Given the description of an element on the screen output the (x, y) to click on. 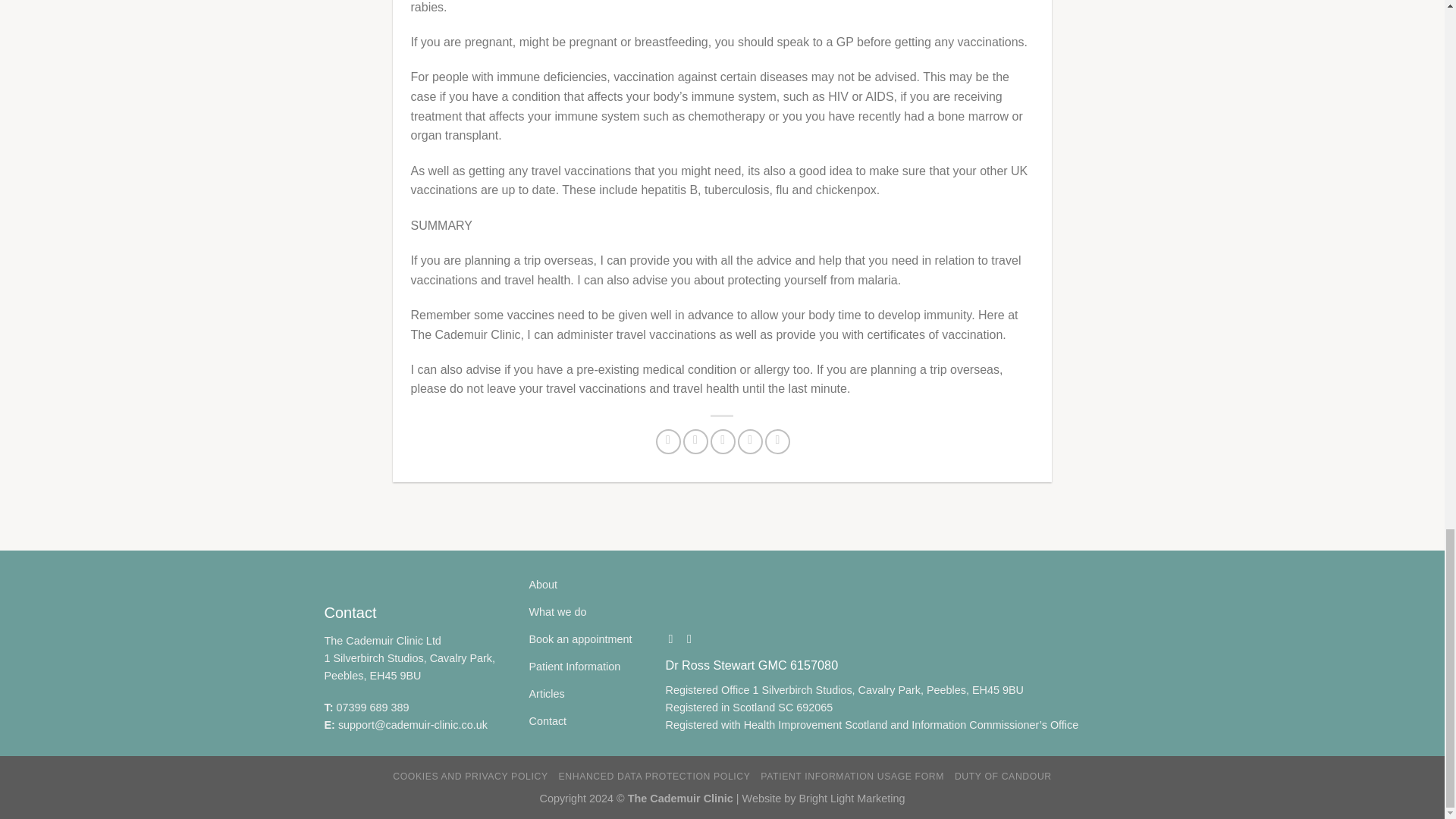
Pin on Pinterest (750, 441)
Follow on Facebook (674, 638)
Email to a Friend (722, 441)
Share on LinkedIn (777, 441)
Share on Facebook (668, 441)
Follow on LinkedIn (692, 638)
Share on Twitter (694, 441)
